Given the description of an element on the screen output the (x, y) to click on. 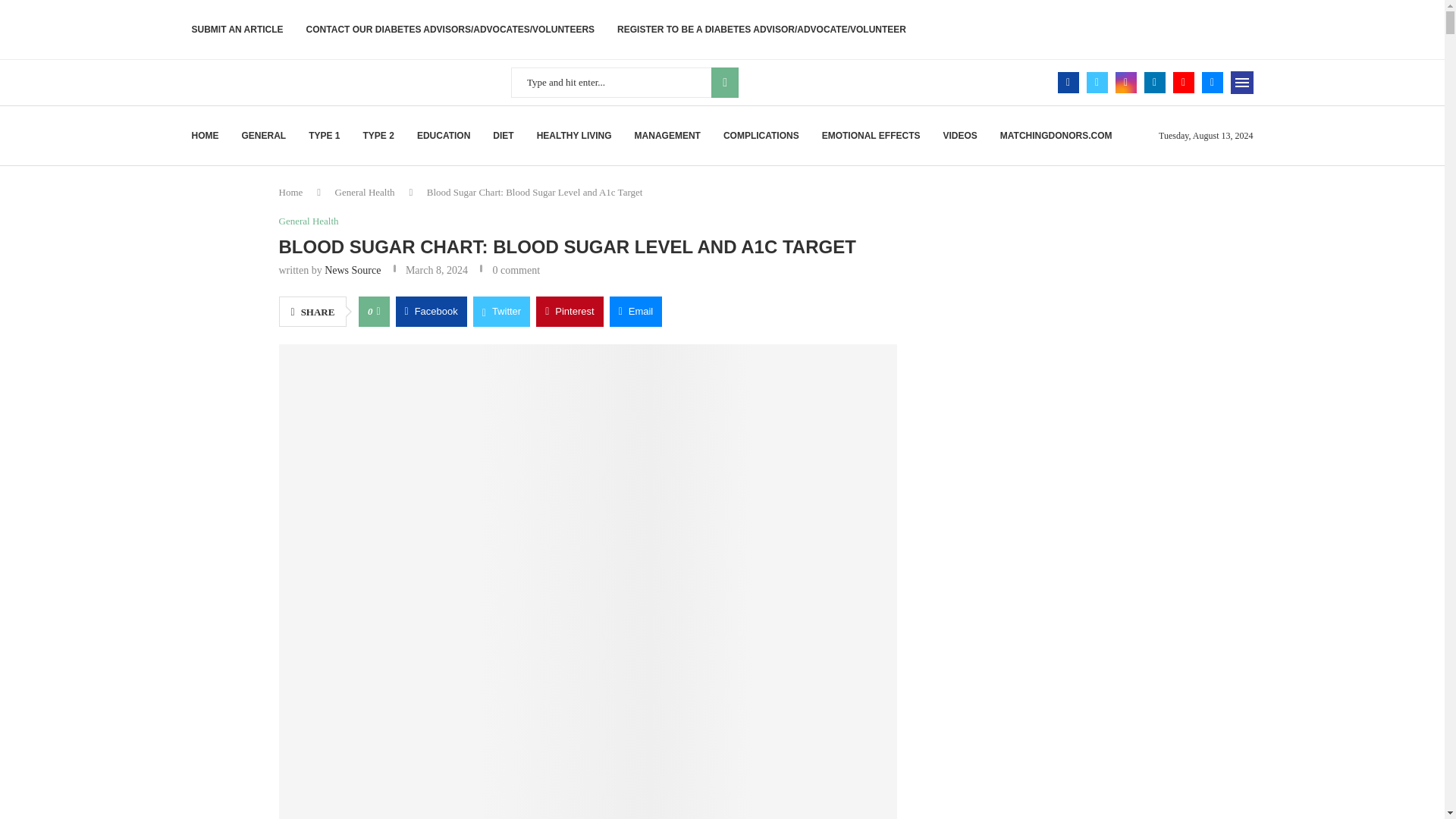
SEARCH (724, 82)
MANAGEMENT (667, 135)
SUBMIT AN ARTICLE (236, 29)
GENERAL (263, 135)
HEALTHY LIVING (574, 135)
EDUCATION (443, 135)
COMPLICATIONS (761, 135)
EMOTIONAL EFFECTS (871, 135)
MATCHINGDONORS.COM (1056, 135)
